Given the description of an element on the screen output the (x, y) to click on. 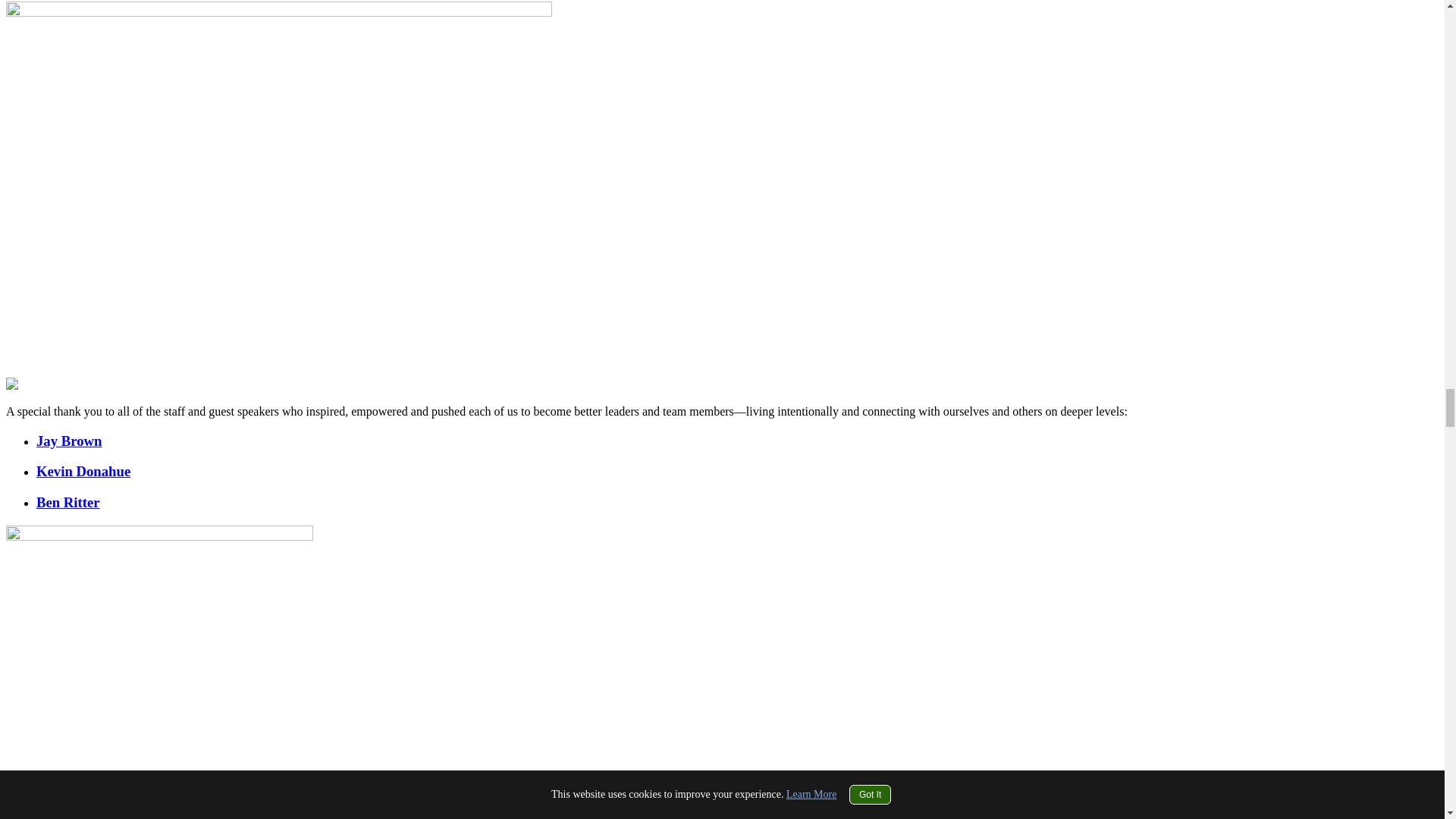
Jay Brown (68, 440)
Ben Ritter (68, 502)
Kevin Donahue (83, 471)
